Given the description of an element on the screen output the (x, y) to click on. 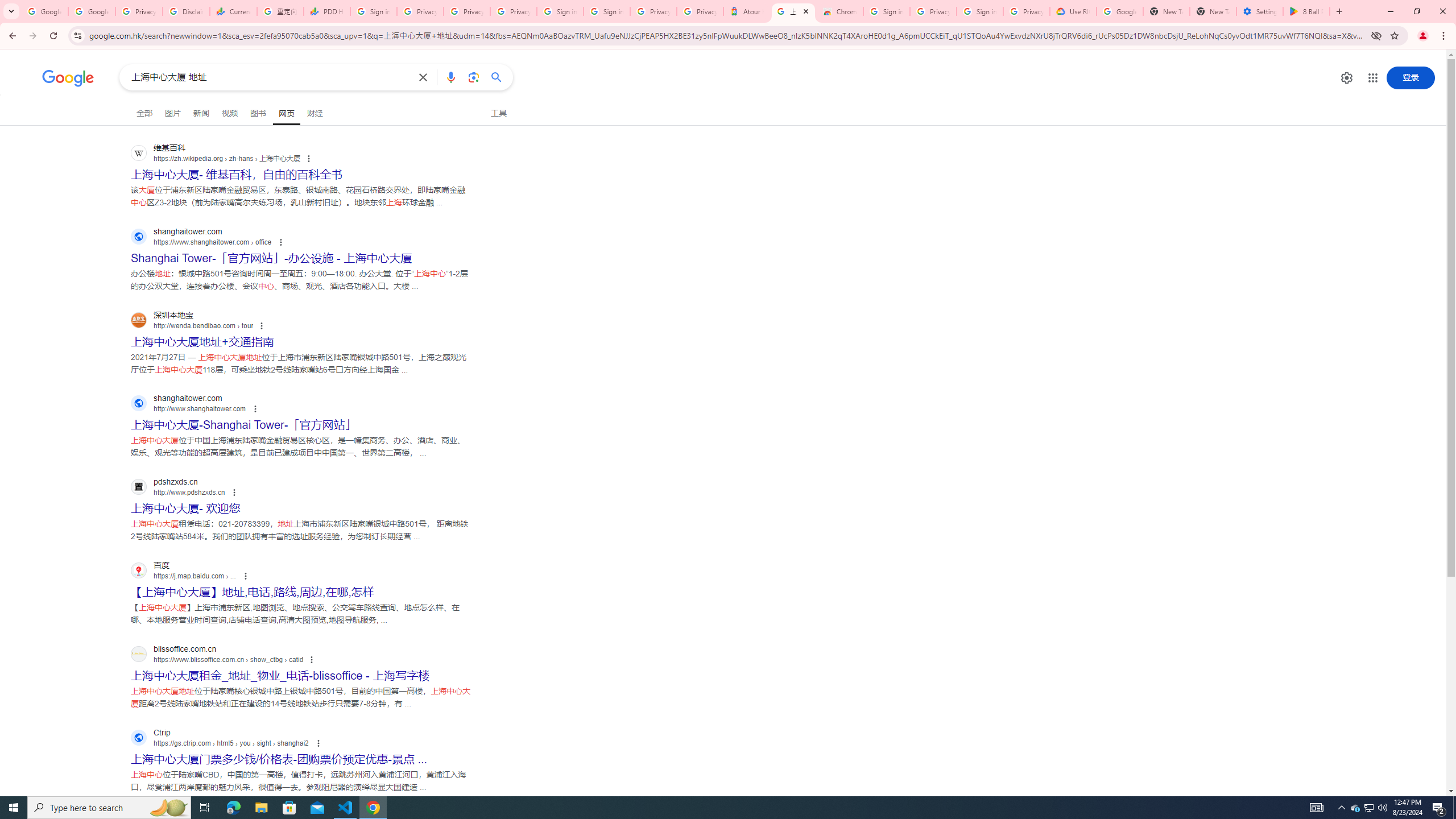
Sign in - Google Accounts (559, 11)
Google (68, 78)
PDD Holdings Inc - ADR (PDD) Price & News - Google Finance (326, 11)
